Given the description of an element on the screen output the (x, y) to click on. 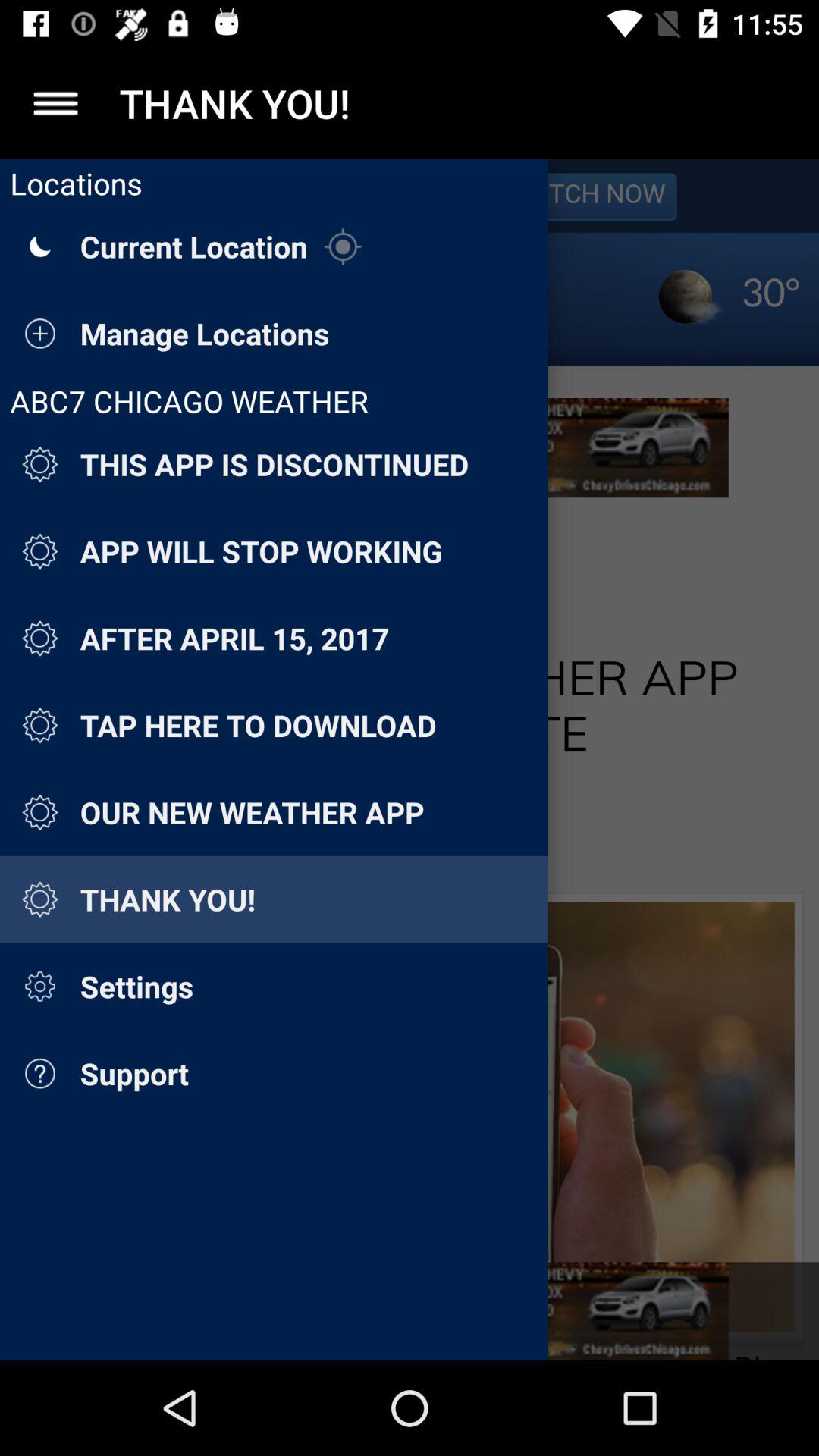
tap the app to the left of thank you! item (55, 103)
